Given the description of an element on the screen output the (x, y) to click on. 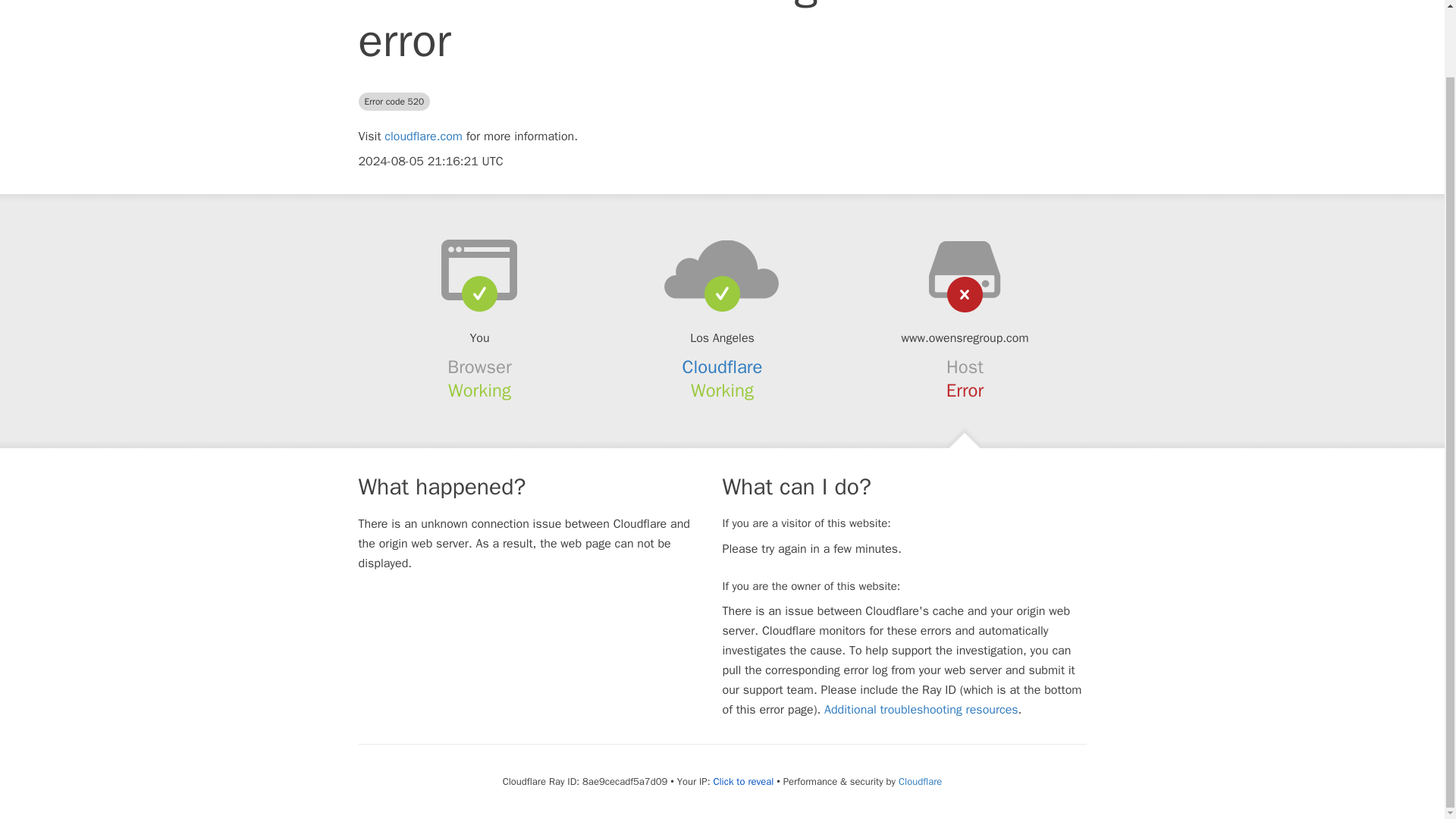
cloudflare.com (423, 136)
Cloudflare (920, 780)
Additional troubleshooting resources (920, 709)
Click to reveal (743, 781)
Cloudflare (722, 366)
